Given the description of an element on the screen output the (x, y) to click on. 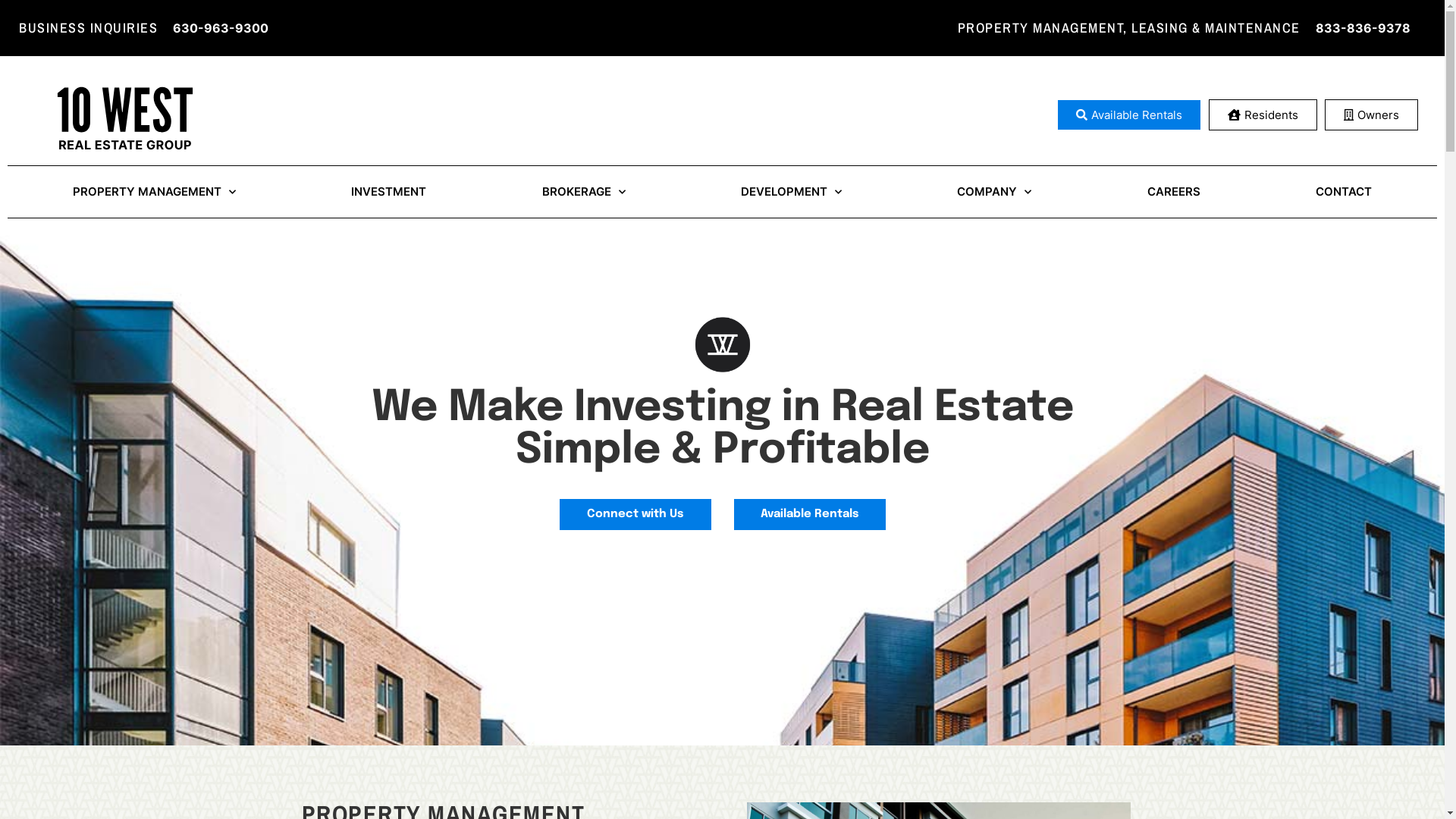
CAREERS Element type: text (1172, 191)
Owners Element type: text (1371, 114)
PROPERTY MANAGEMENT Element type: text (154, 191)
Connect with Us Element type: text (635, 514)
DEVELOPMENT Element type: text (791, 191)
630-963-9300 Element type: text (220, 27)
Available Rentals Element type: text (1129, 114)
833-836-9378 Element type: text (1362, 27)
INVESTMENT Element type: text (388, 191)
Available Rentals Element type: text (809, 514)
Residents Element type: text (1262, 114)
COMPANY Element type: text (993, 191)
CONTACT Element type: text (1343, 191)
BROKERAGE Element type: text (583, 191)
